Given the description of an element on the screen output the (x, y) to click on. 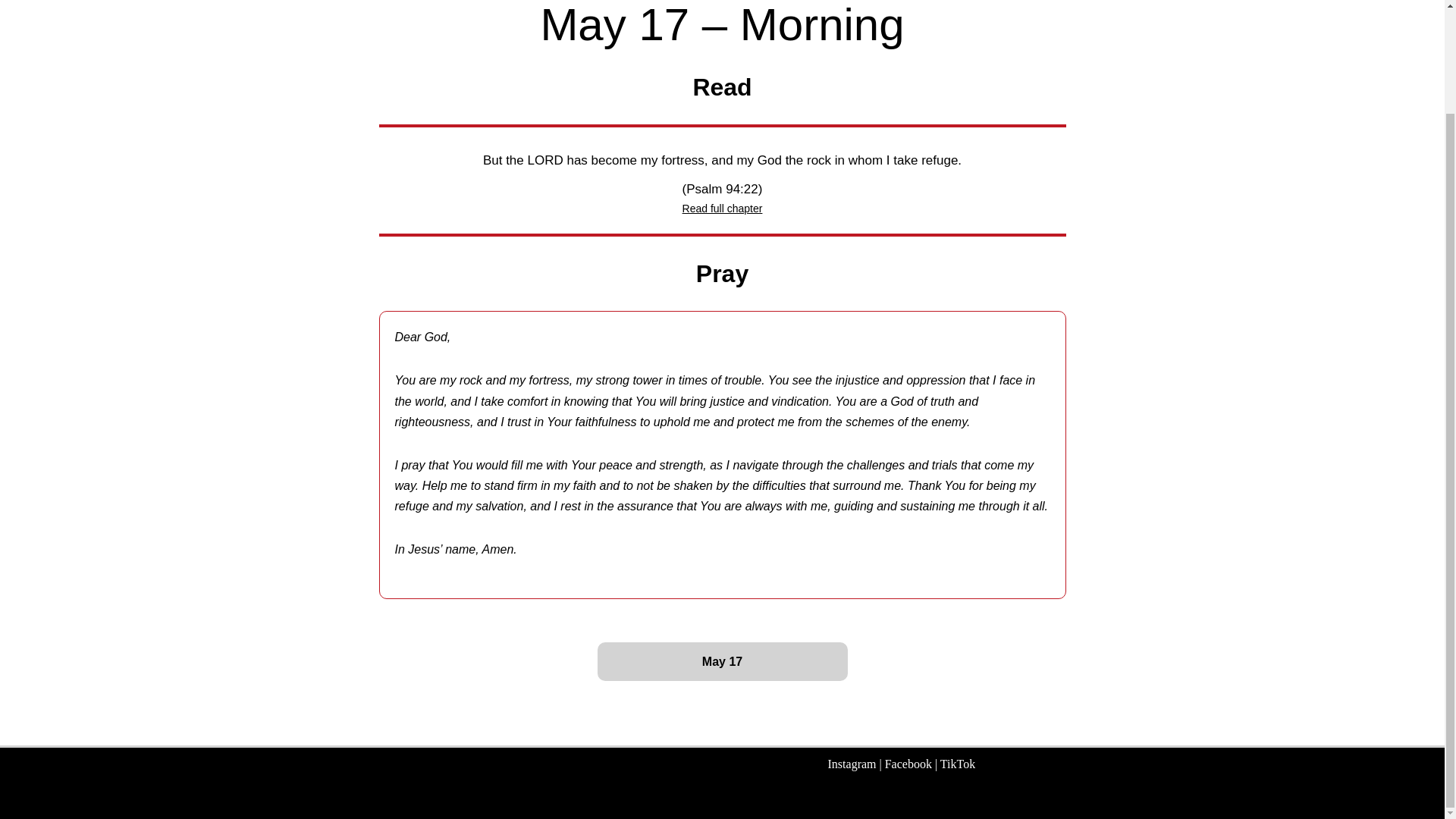
WordPress (410, 799)
Read full chapter (722, 208)
Neve (302, 799)
May 17 (721, 661)
